Given the description of an element on the screen output the (x, y) to click on. 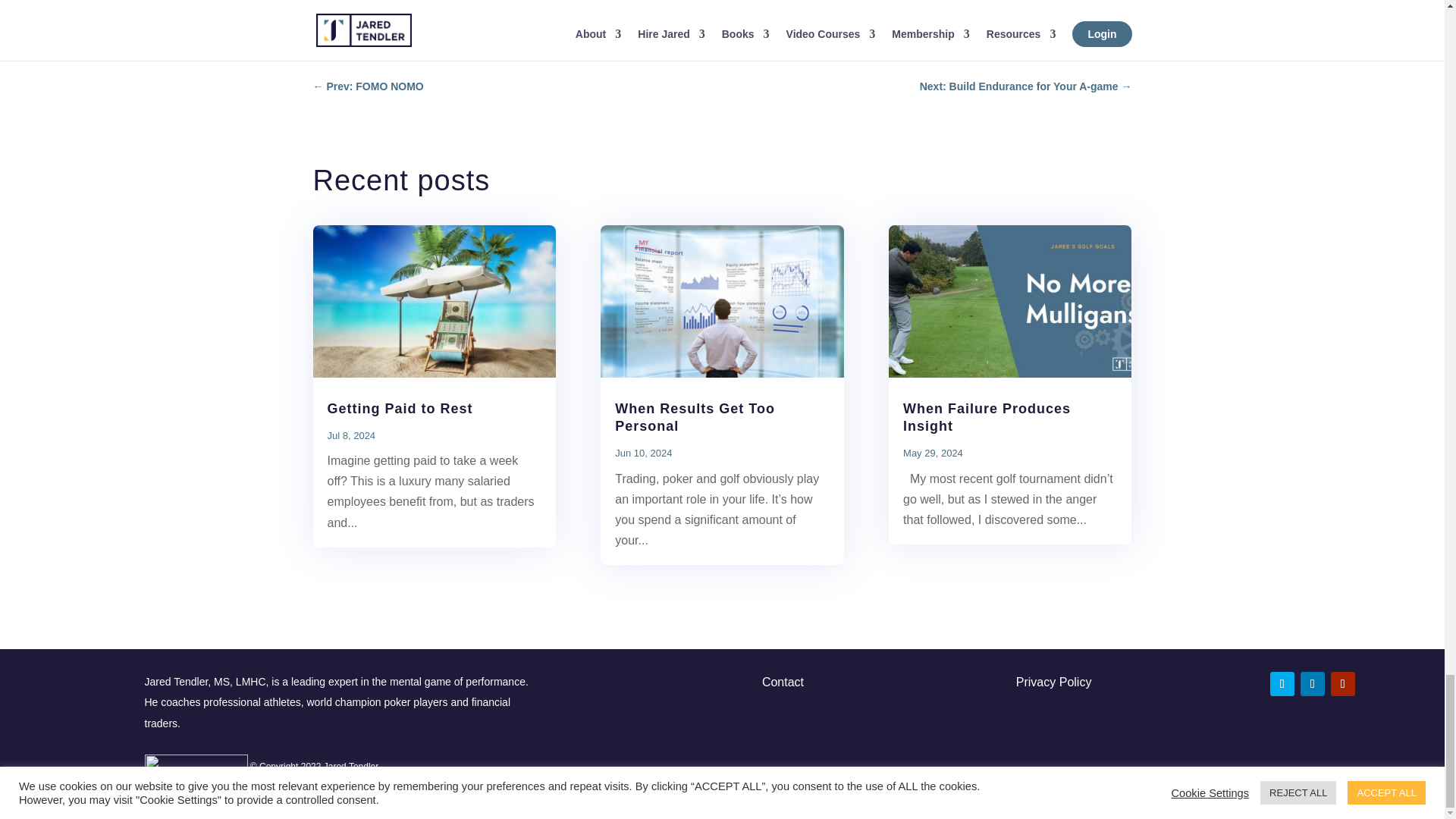
Follow on Twitter (1281, 683)
Follow on Youtube (1342, 683)
Follow on LinkedIn (1312, 683)
